Given the description of an element on the screen output the (x, y) to click on. 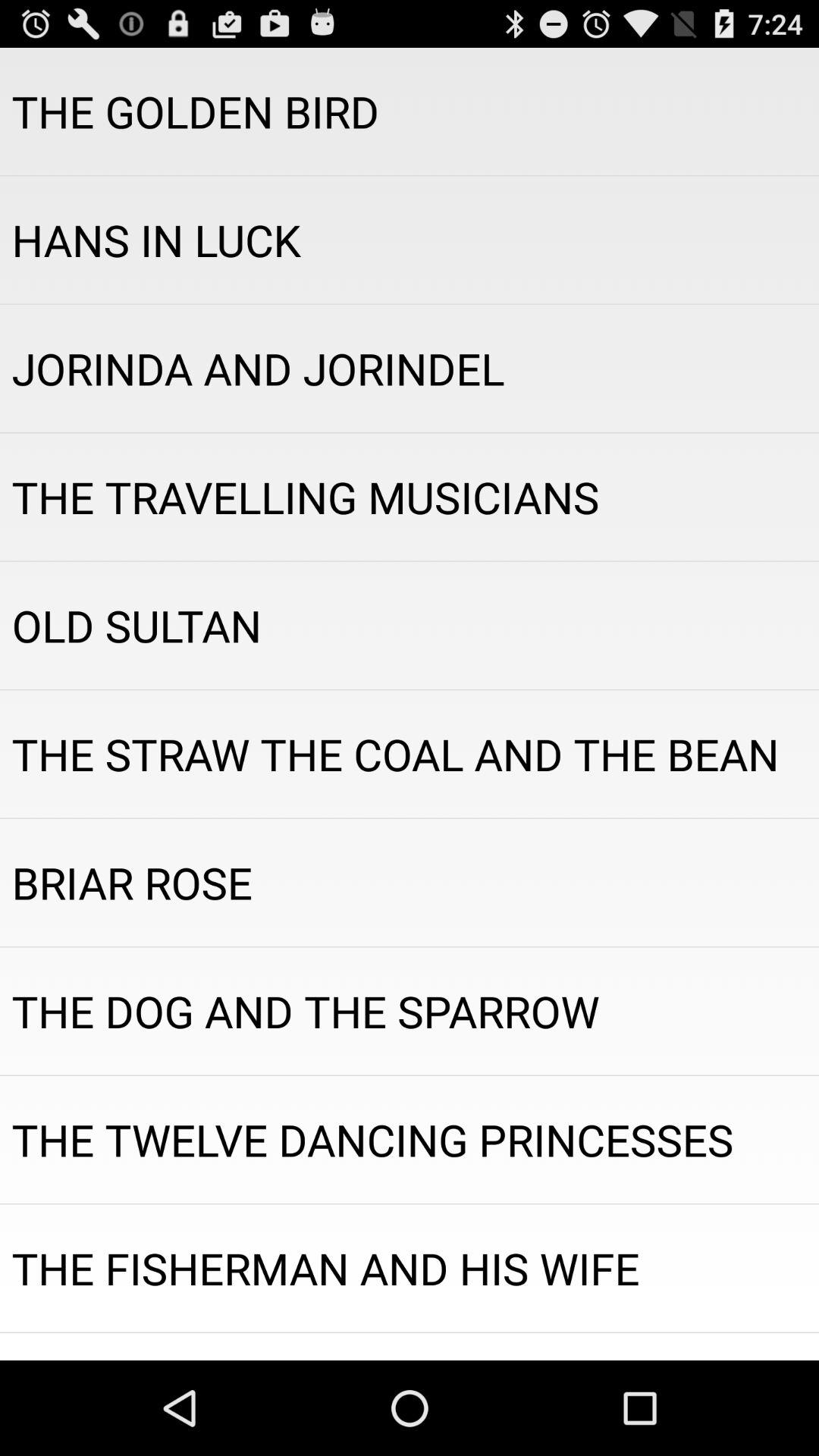
turn off the item below the the golden bird (409, 239)
